Given the description of an element on the screen output the (x, y) to click on. 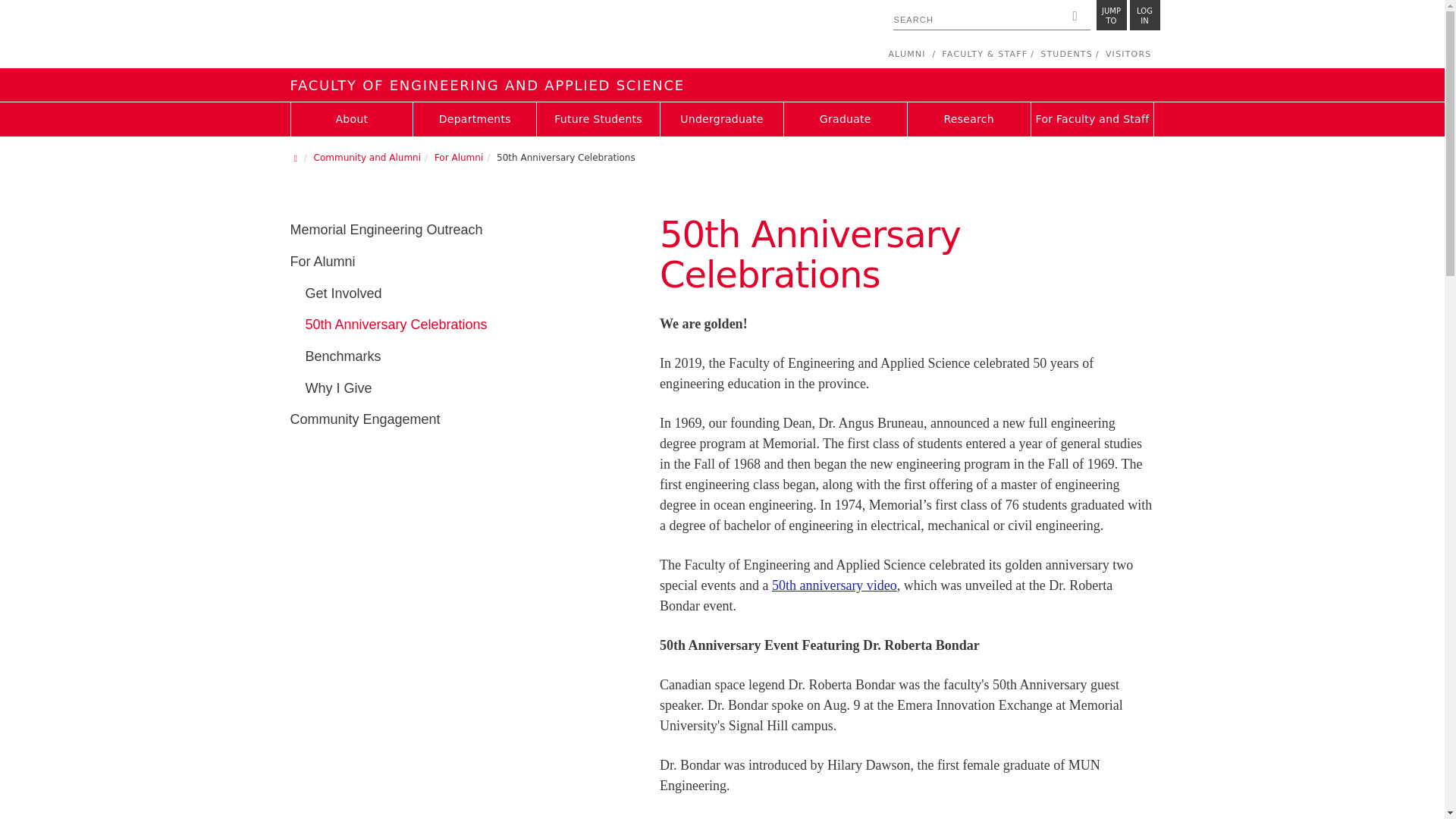
Memorial University (450, 35)
JUMP TO (1111, 15)
Memorial University of Newfoundland (450, 35)
